Given the description of an element on the screen output the (x, y) to click on. 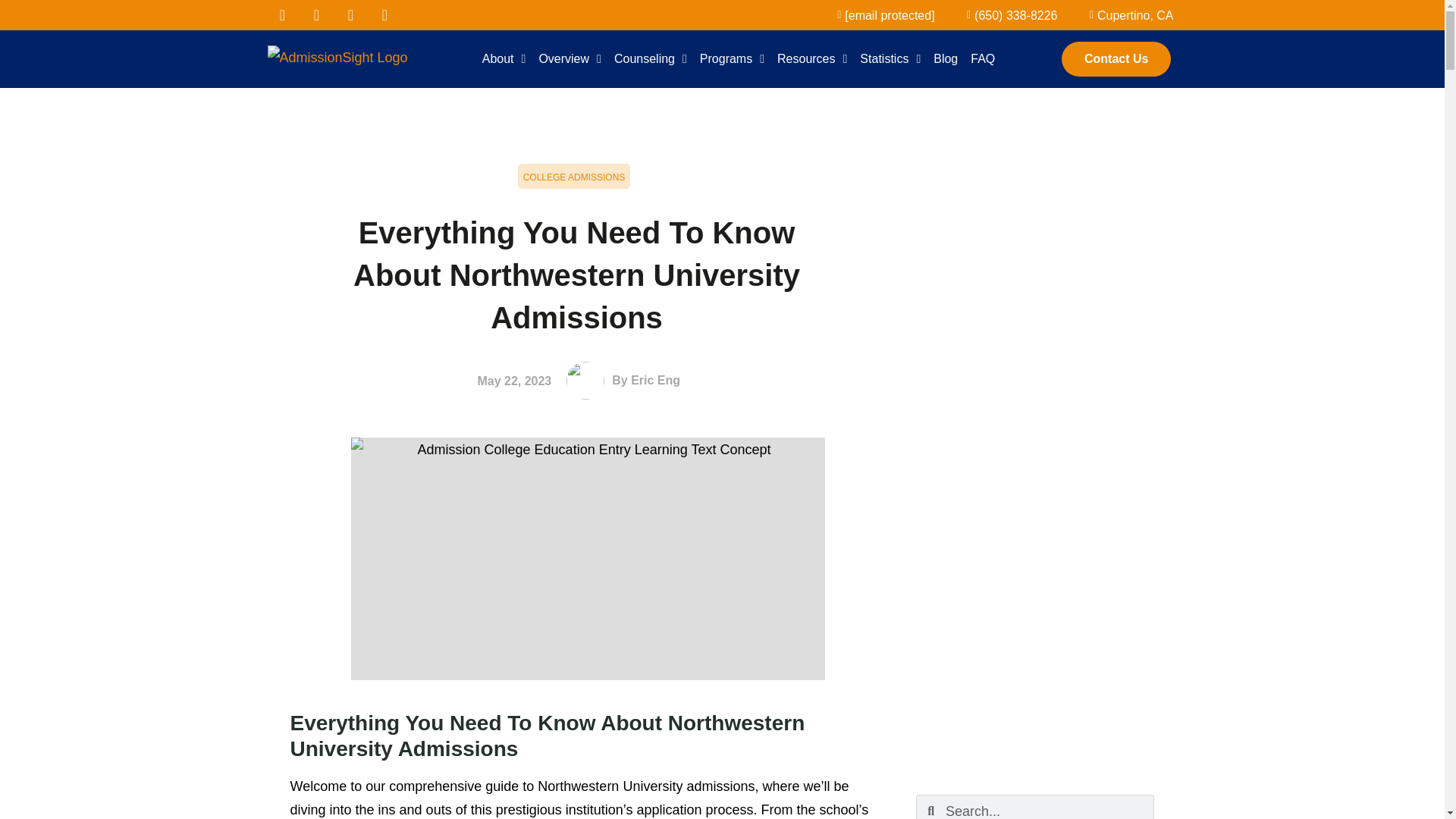
Counseling (650, 59)
About (504, 59)
Facebook (281, 15)
Overview (569, 59)
Twitter (316, 15)
Programs (731, 59)
Instagram (384, 15)
Linkedin (349, 15)
